Given the description of an element on the screen output the (x, y) to click on. 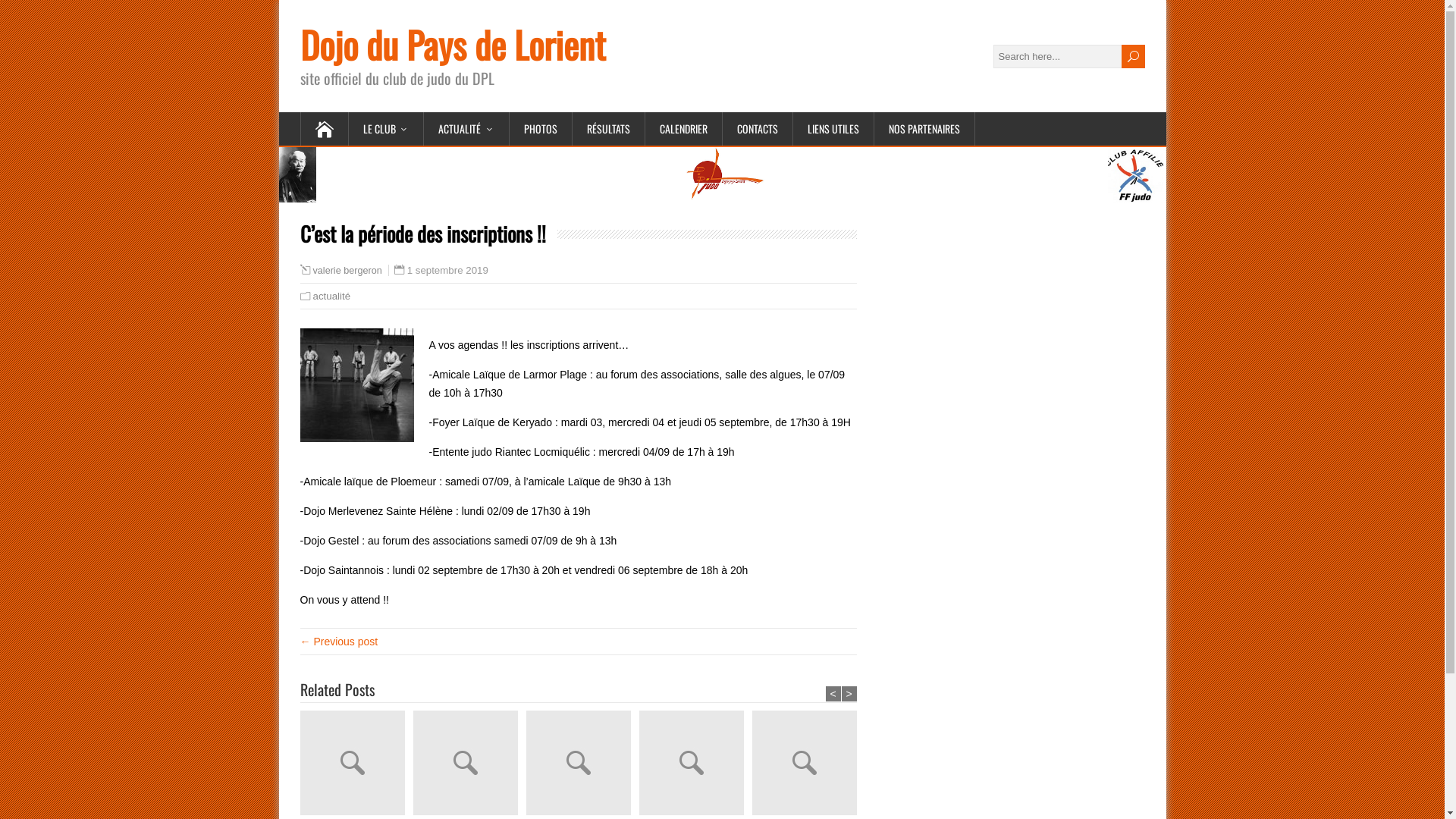
NOS PARTENAIRES Element type: text (923, 128)
< Element type: text (832, 693)
Kan Geiko : allez les courageux !! Element type: hover (468, 764)
PHOTOS Element type: text (540, 128)
Dojo du Pays de Lorient Element type: text (452, 44)
U Element type: text (1132, 56)
> Element type: text (848, 693)
CONTACTS Element type: text (756, 128)
CALENDRIER Element type: text (682, 128)
LE CLUB Element type: text (386, 128)
LIENS UTILES Element type: text (833, 128)
valerie bergeron Element type: text (346, 270)
